Given the description of an element on the screen output the (x, y) to click on. 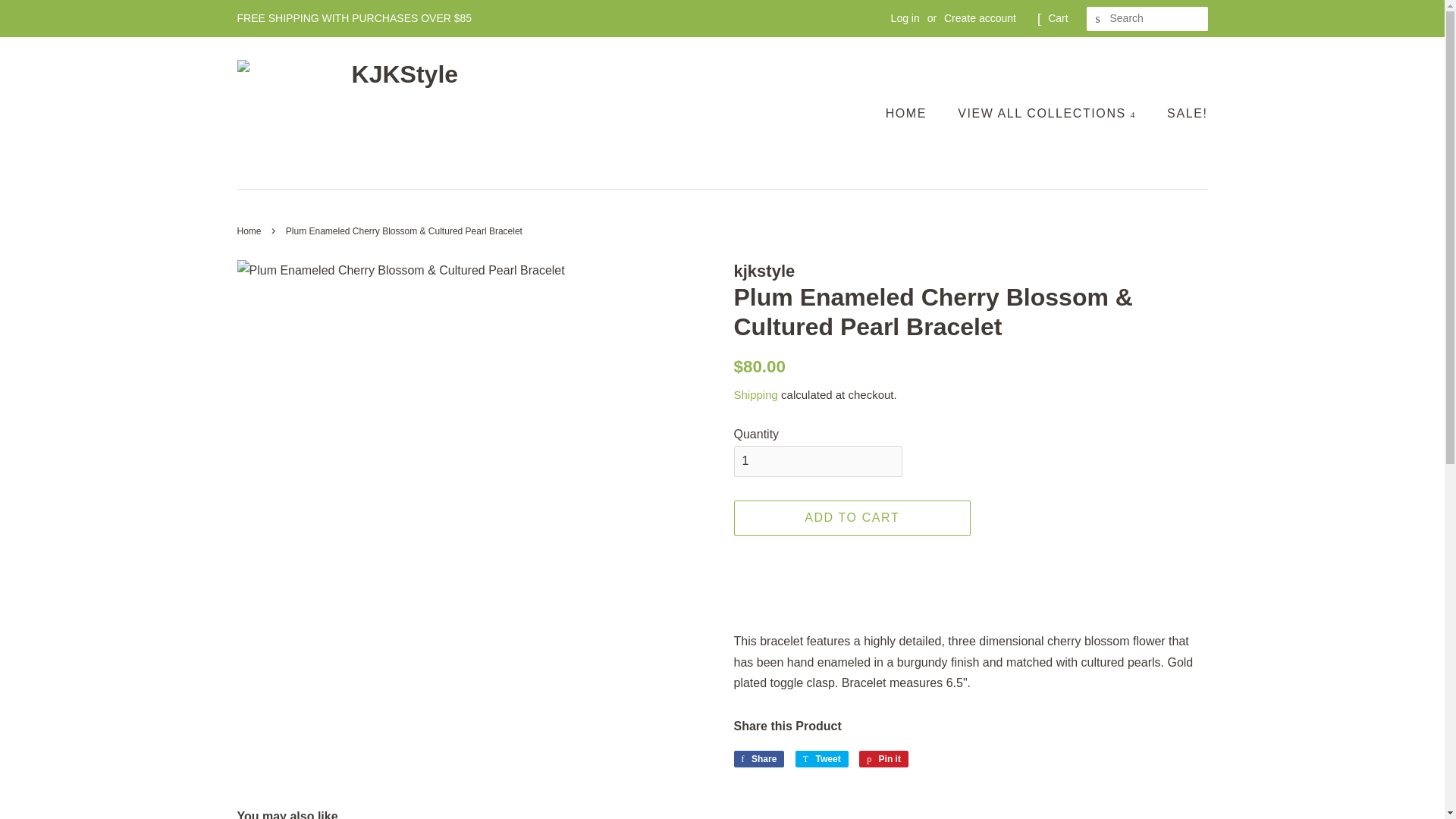
Back to the frontpage (249, 231)
Pin on Pinterest (883, 759)
Log in (905, 18)
Tweet on Twitter (821, 759)
1 (817, 460)
SALE! (1181, 112)
VIEW ALL COLLECTIONS (1048, 112)
Create account (979, 18)
Shipping (755, 394)
Home (249, 231)
